Given the description of an element on the screen output the (x, y) to click on. 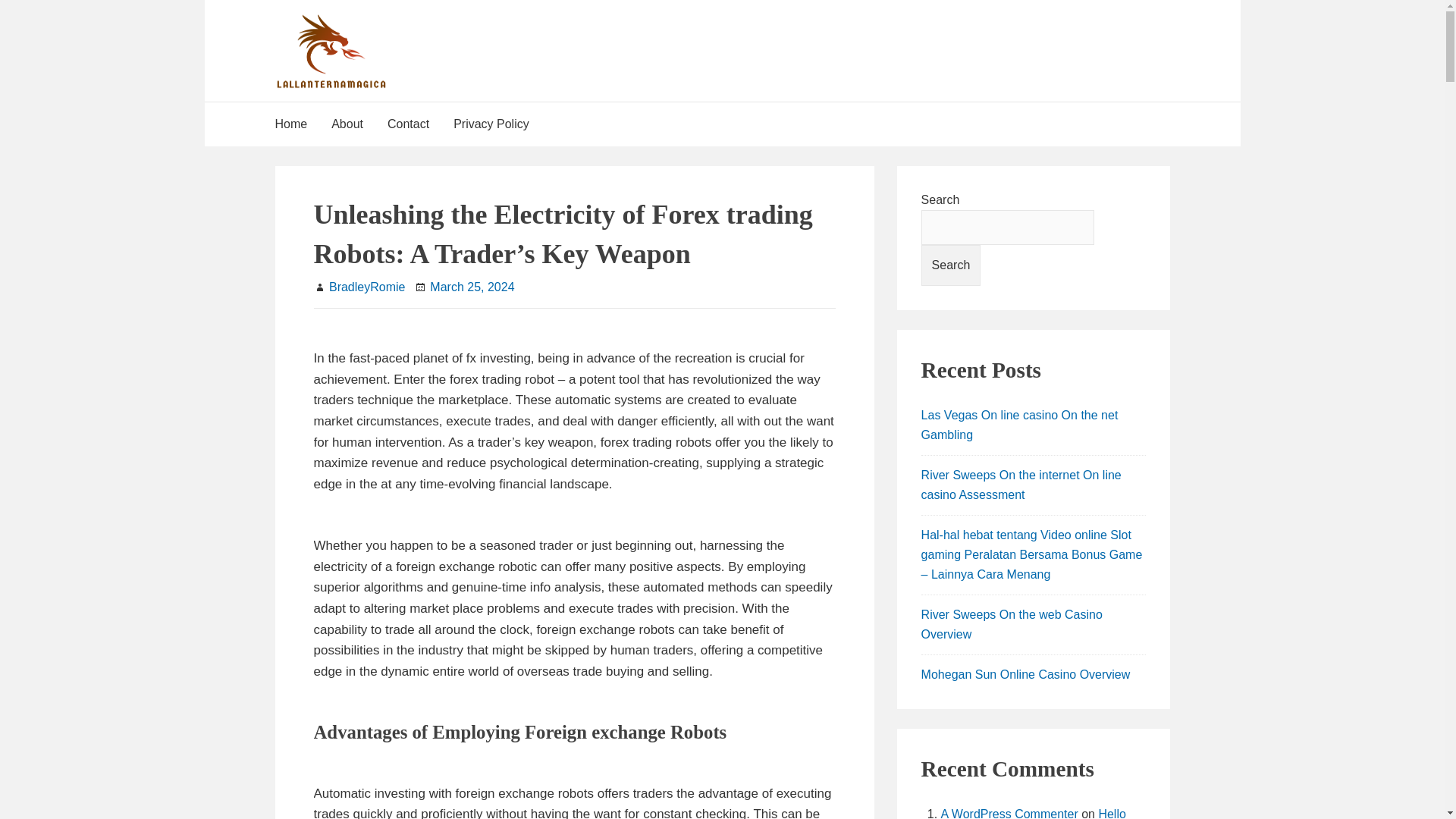
Las Vegas On line casino On the net Gambling (1019, 424)
River Sweeps On the web Casino Overview (1011, 624)
Privacy Policy (491, 124)
BradleyRomie (366, 286)
Mohegan Sun Online Casino Overview (1026, 674)
River Sweeps On the internet On line casino Assessment (1021, 484)
lallanternamagica (492, 26)
Search (951, 264)
March 25, 2024 (471, 286)
